Given the description of an element on the screen output the (x, y) to click on. 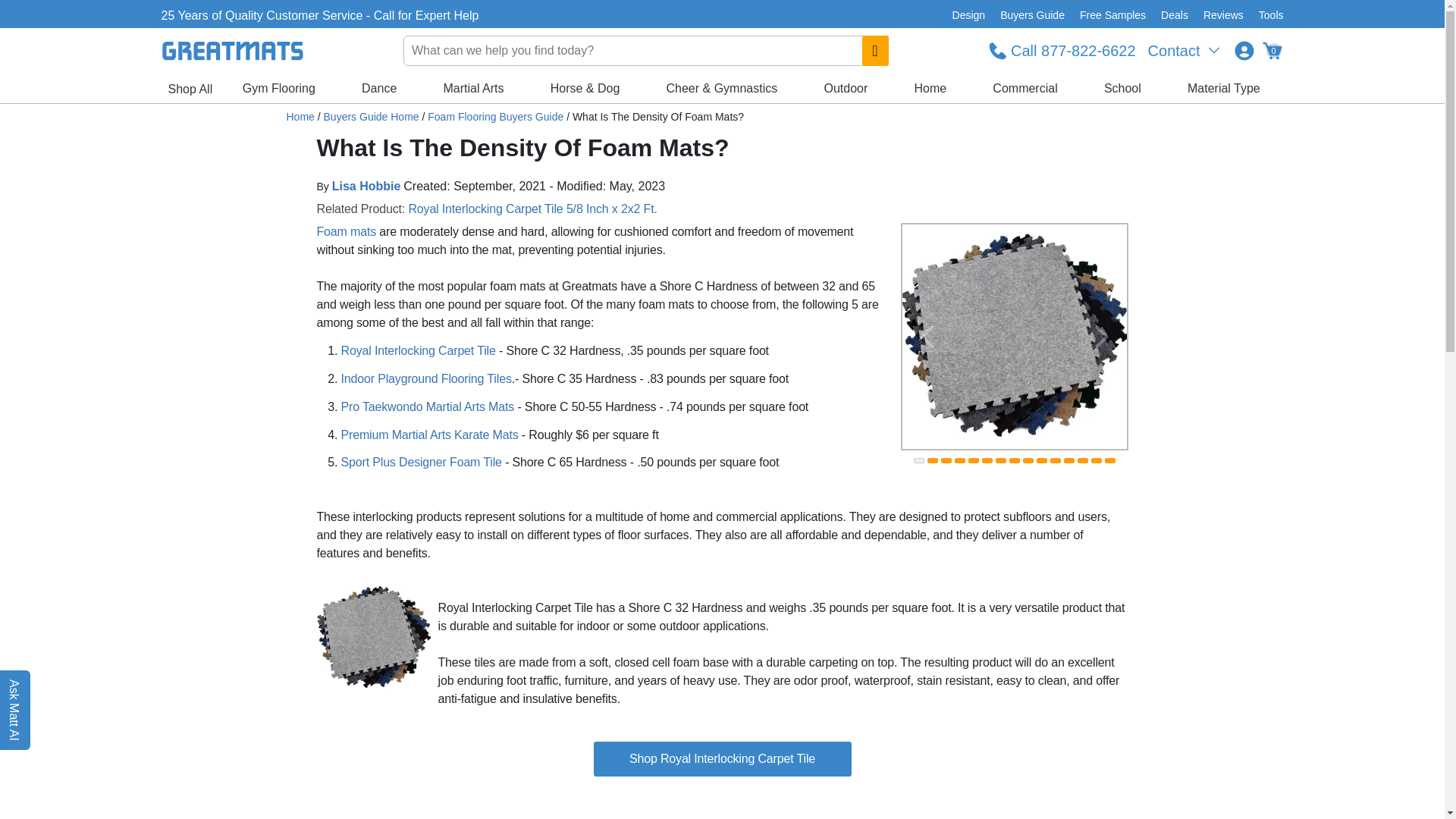
Design (968, 15)
0 (1271, 50)
Deals (1174, 15)
Reviews (1222, 15)
Contact (1184, 50)
Shop All (189, 89)
Buyers Guide (1031, 15)
Tools (1267, 15)
Greatmats (300, 116)
Free Samples (1112, 15)
Call 877-822-6622 (1061, 50)
